Given the description of an element on the screen output the (x, y) to click on. 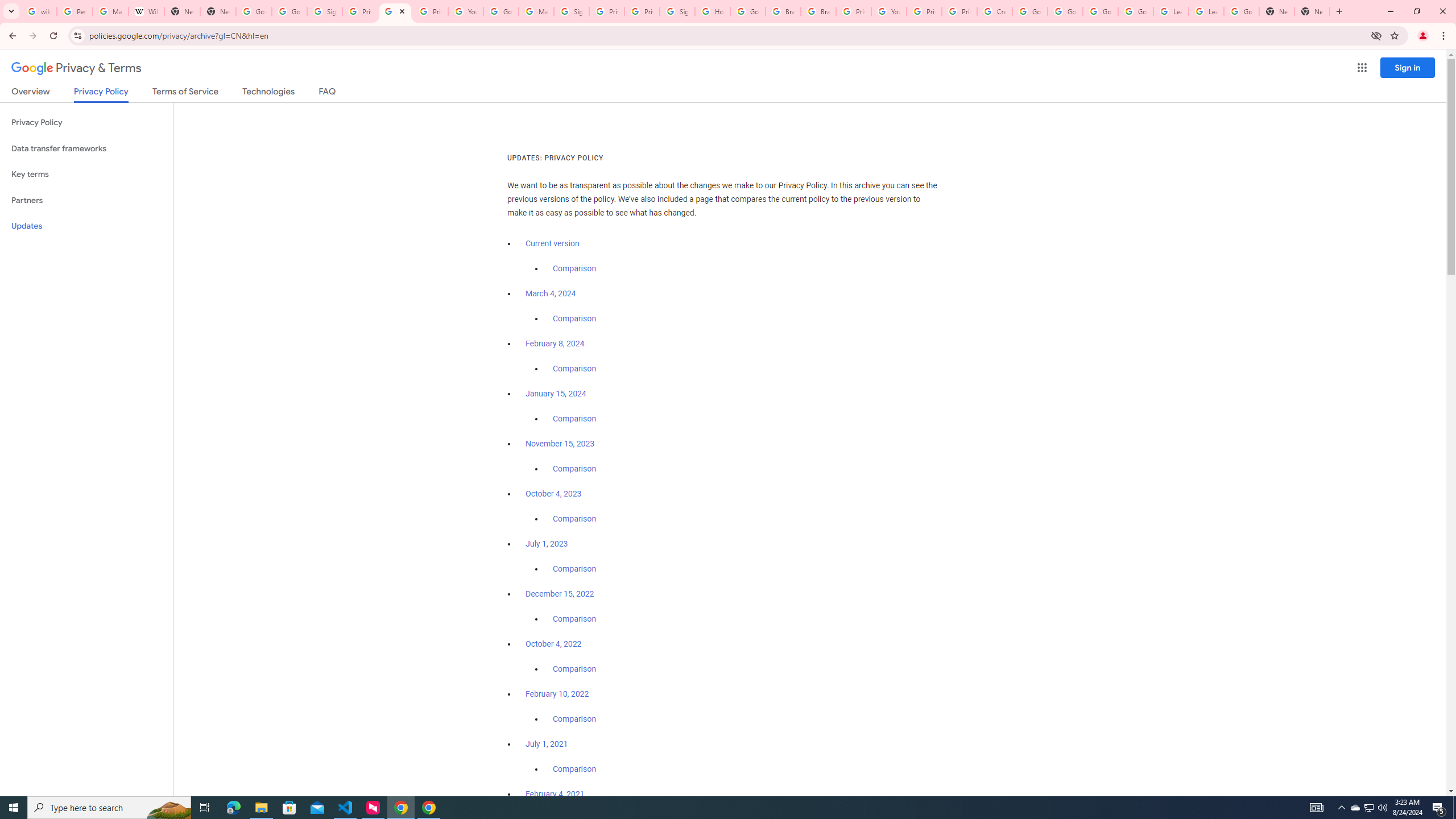
Terms of Service (184, 93)
Personalization & Google Search results - Google Search Help (74, 11)
Sign in - Google Accounts (324, 11)
October 4, 2023 (553, 493)
New Tab (1312, 11)
July 1, 2023 (546, 543)
January 15, 2024 (555, 394)
February 10, 2022 (557, 693)
